Given the description of an element on the screen output the (x, y) to click on. 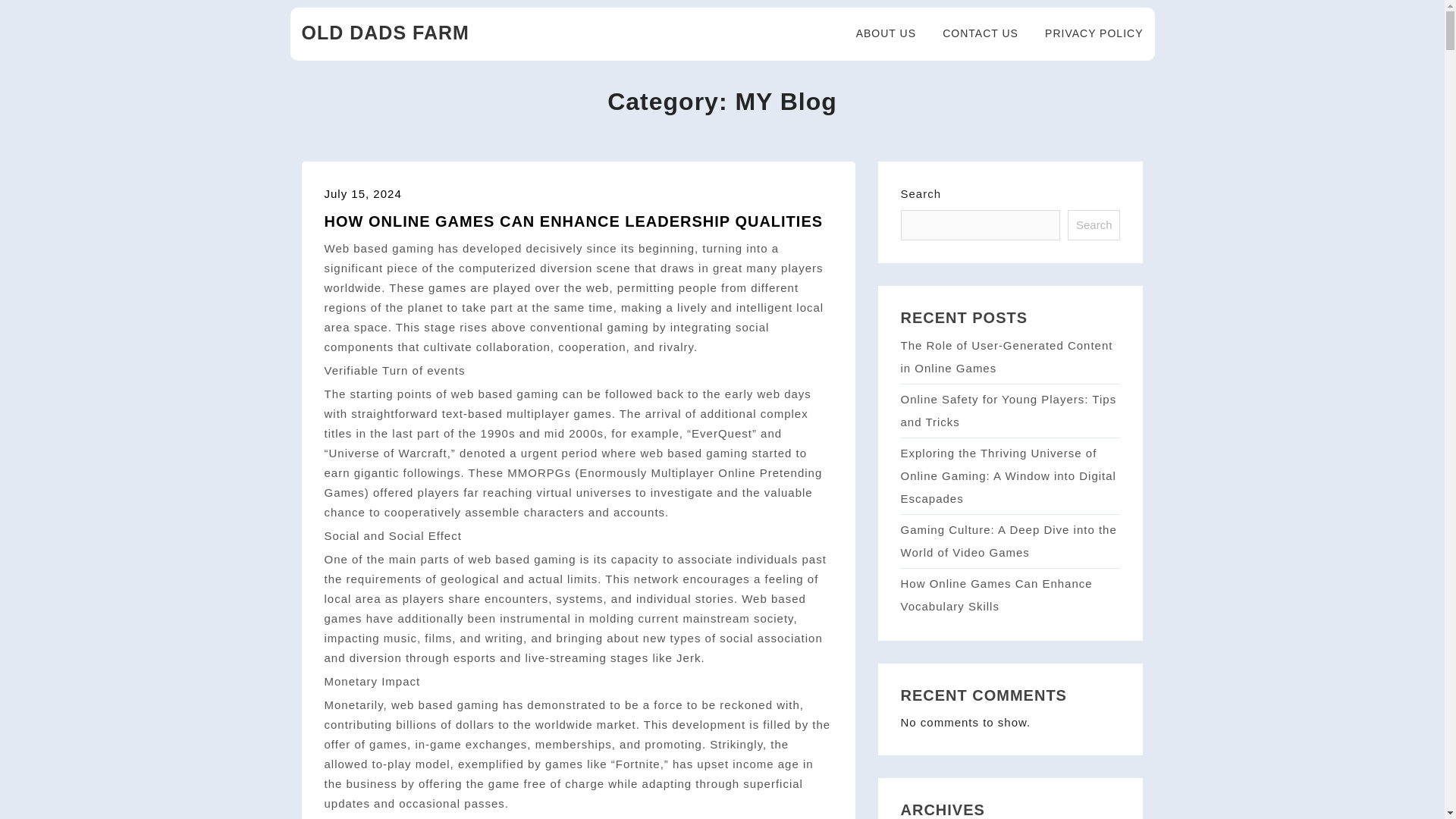
CONTACT US (970, 33)
OLD DADS FARM (384, 32)
HOW ONLINE GAMES CAN ENHANCE LEADERSHIP QUALITIES (574, 221)
PRIVACY POLICY (1084, 33)
ABOUT US (876, 33)
July 15, 2024 (362, 193)
